Given the description of an element on the screen output the (x, y) to click on. 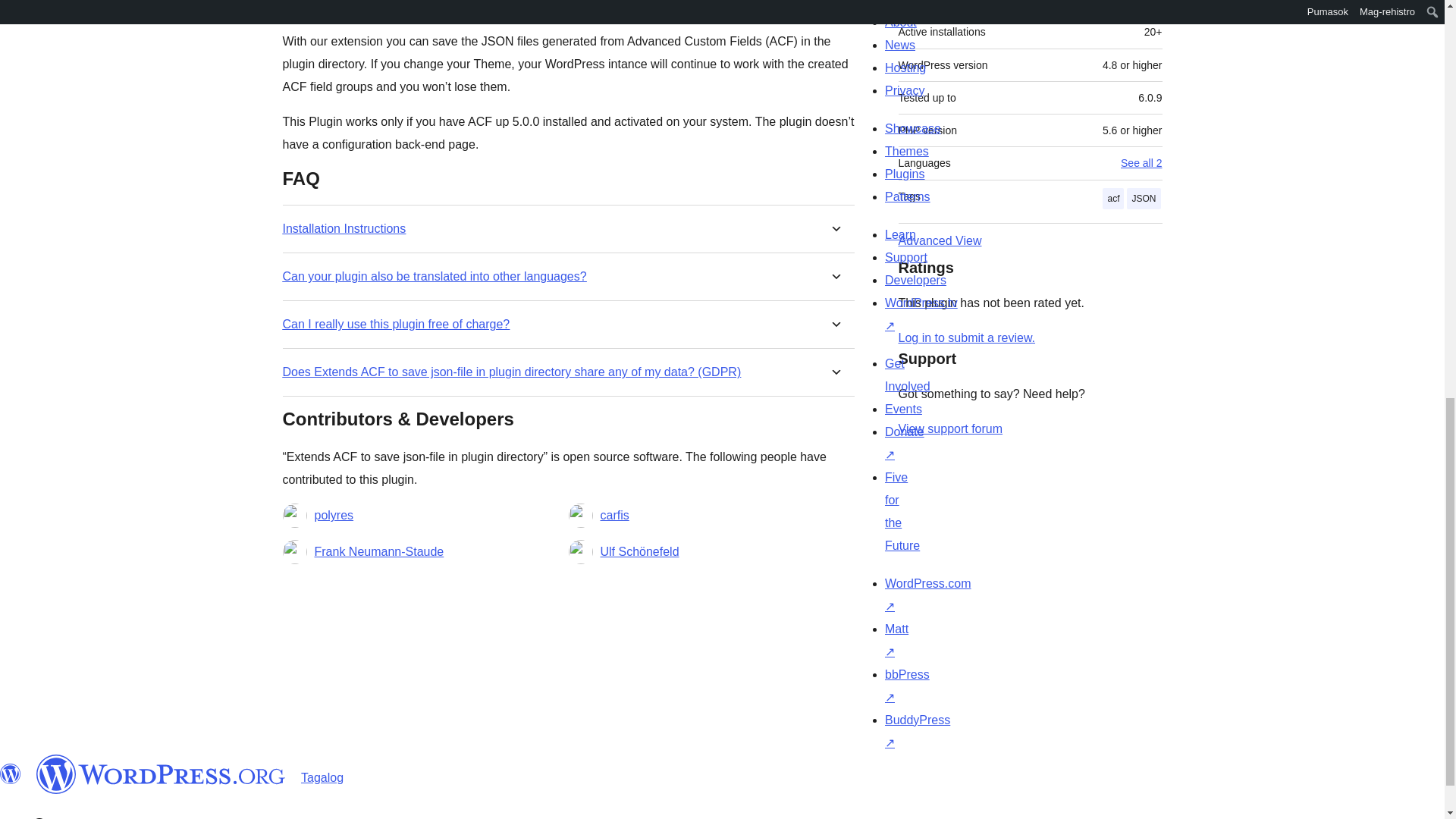
Can I really use this plugin free of charge? (395, 323)
Can your plugin also be translated into other languages? (434, 276)
WordPress.org (160, 773)
WordPress.org (10, 773)
Installation Instructions (344, 228)
Log in to WordPress.org (966, 337)
